Given the description of an element on the screen output the (x, y) to click on. 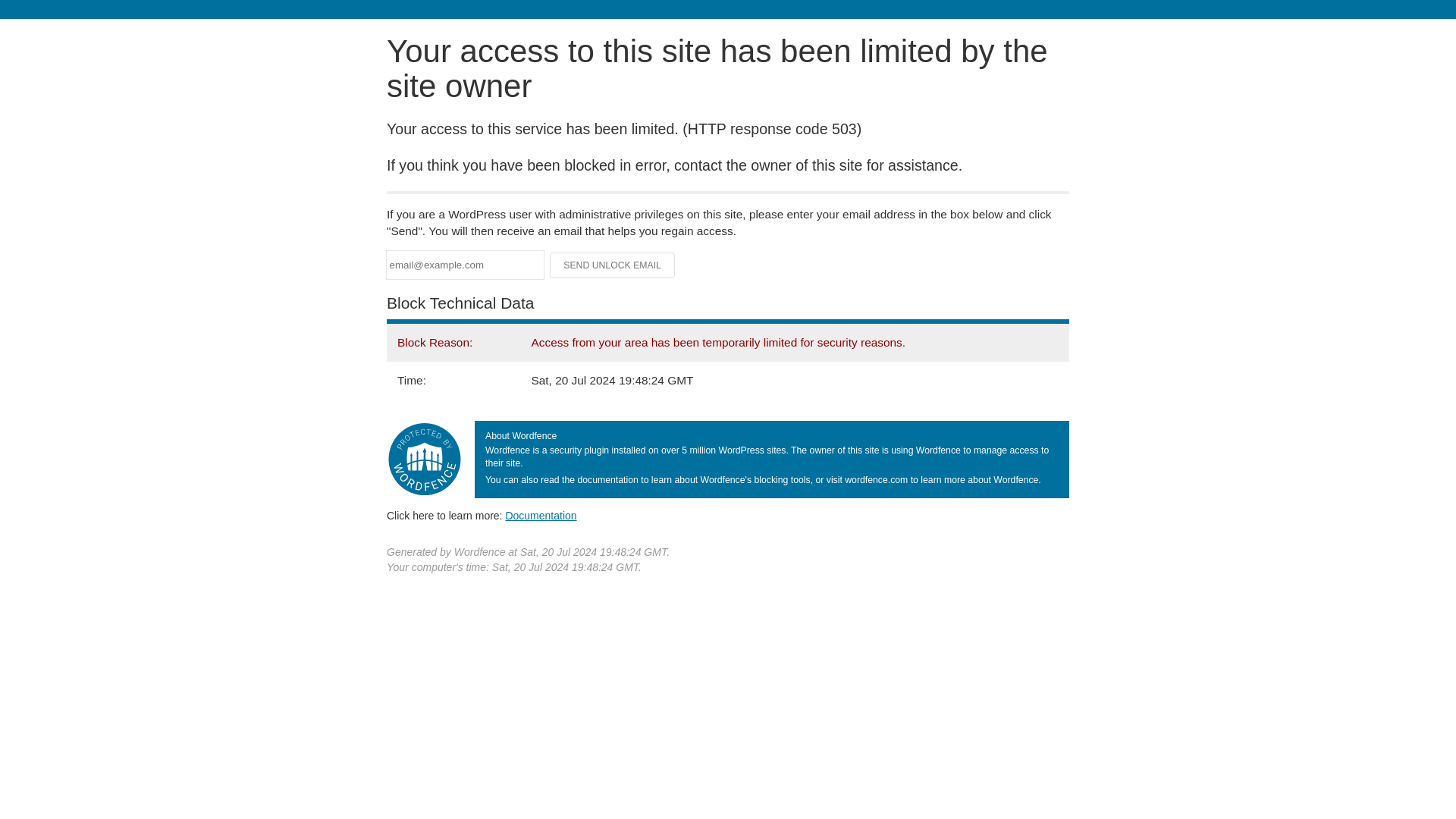
Send Unlock Email (612, 265)
Documentation (540, 515)
Send Unlock Email (612, 265)
